Given the description of an element on the screen output the (x, y) to click on. 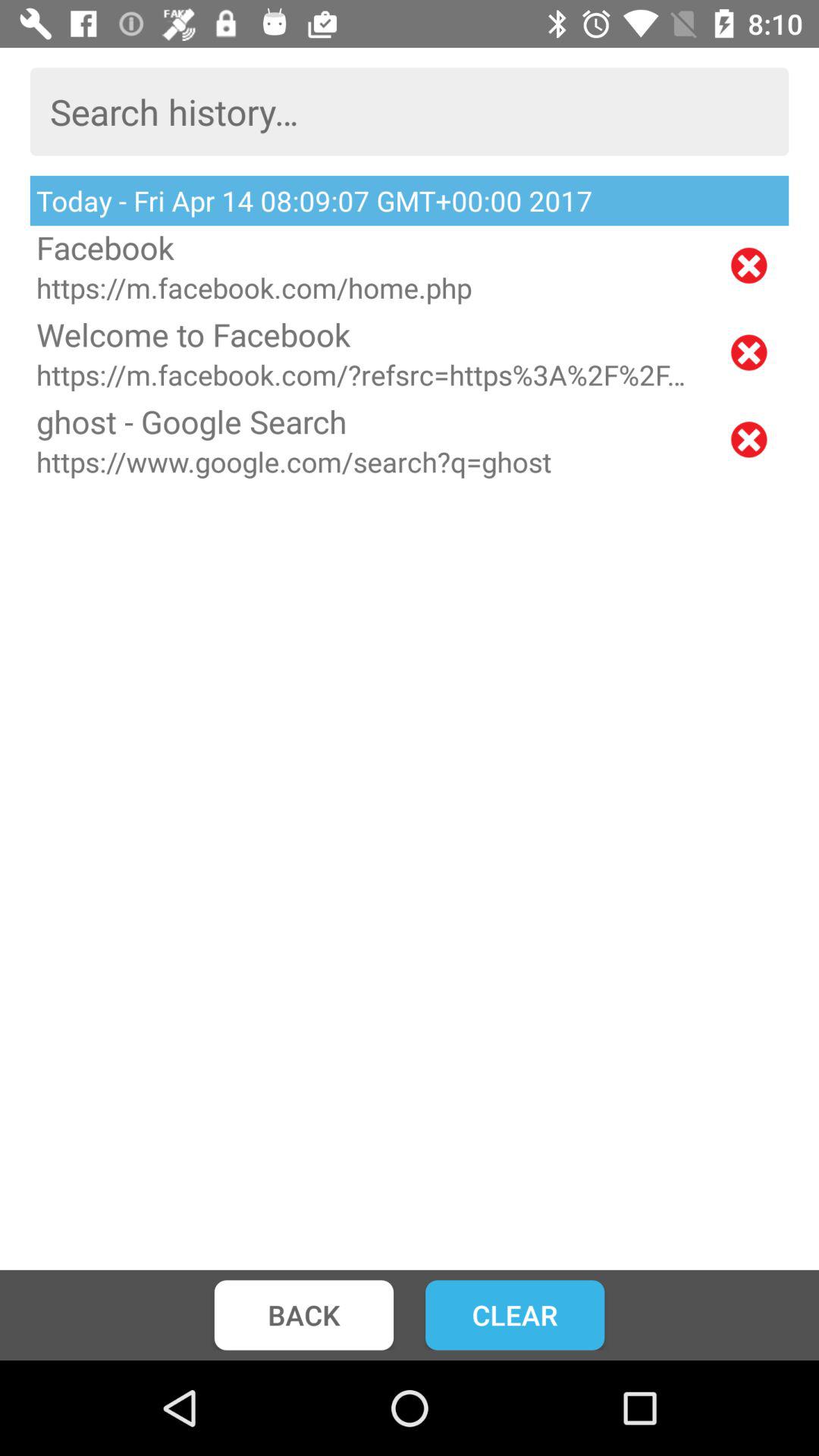
remove from history (748, 265)
